Given the description of an element on the screen output the (x, y) to click on. 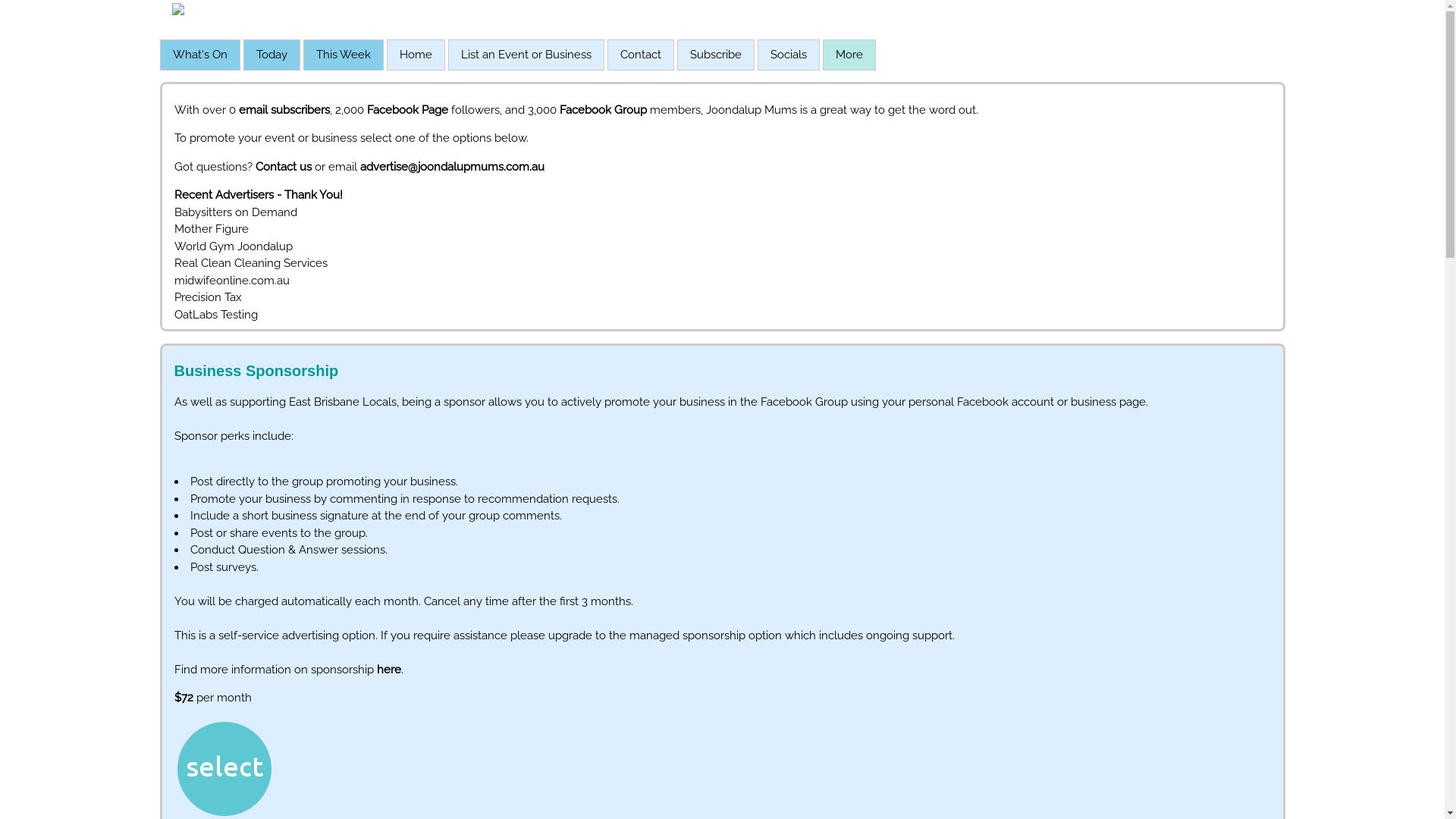
What's On Element type: text (199, 54)
here Element type: text (388, 669)
More Element type: text (848, 54)
Socials Element type: text (787, 54)
Today Element type: text (271, 54)
This Week Element type: text (342, 54)
Facebook Group Element type: text (602, 109)
advertise@joondalupmums.com.au Element type: text (451, 166)
Facebook Page Element type: text (407, 109)
Contact us Element type: text (282, 166)
Home Element type: text (414, 54)
Subscribe Element type: text (715, 54)
email subscribers Element type: text (283, 109)
Contact Element type: text (640, 54)
List an Event or Business Element type: text (526, 54)
